Given the description of an element on the screen output the (x, y) to click on. 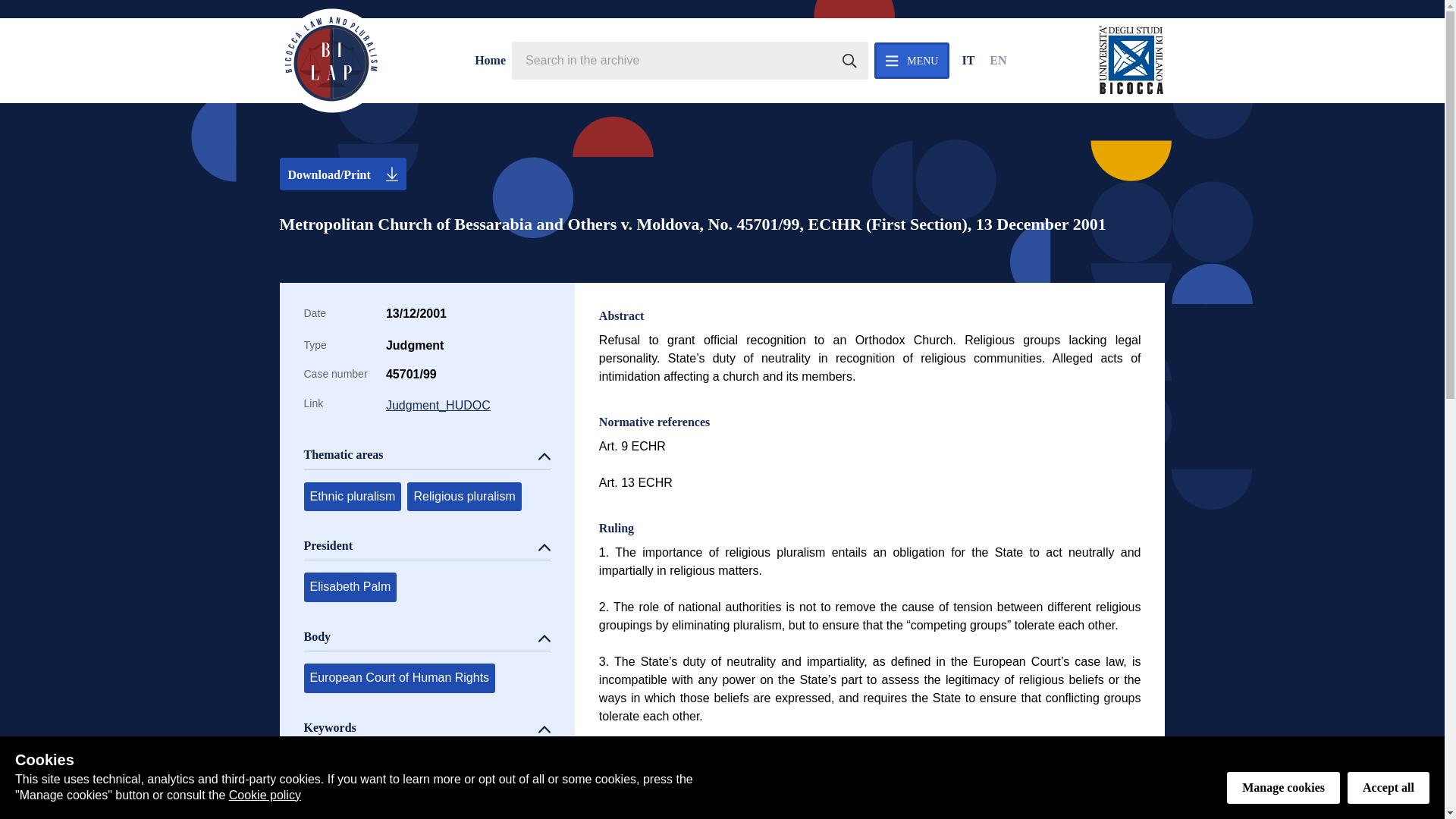
EN (998, 60)
MENU (912, 60)
Religious pluralism (464, 496)
Search in the archive (849, 60)
Elisabeth Palm (349, 586)
Manage cookies (1283, 787)
Home (489, 60)
National security (484, 803)
Religious community (365, 803)
Freedom of religion (361, 768)
